Given the description of an element on the screen output the (x, y) to click on. 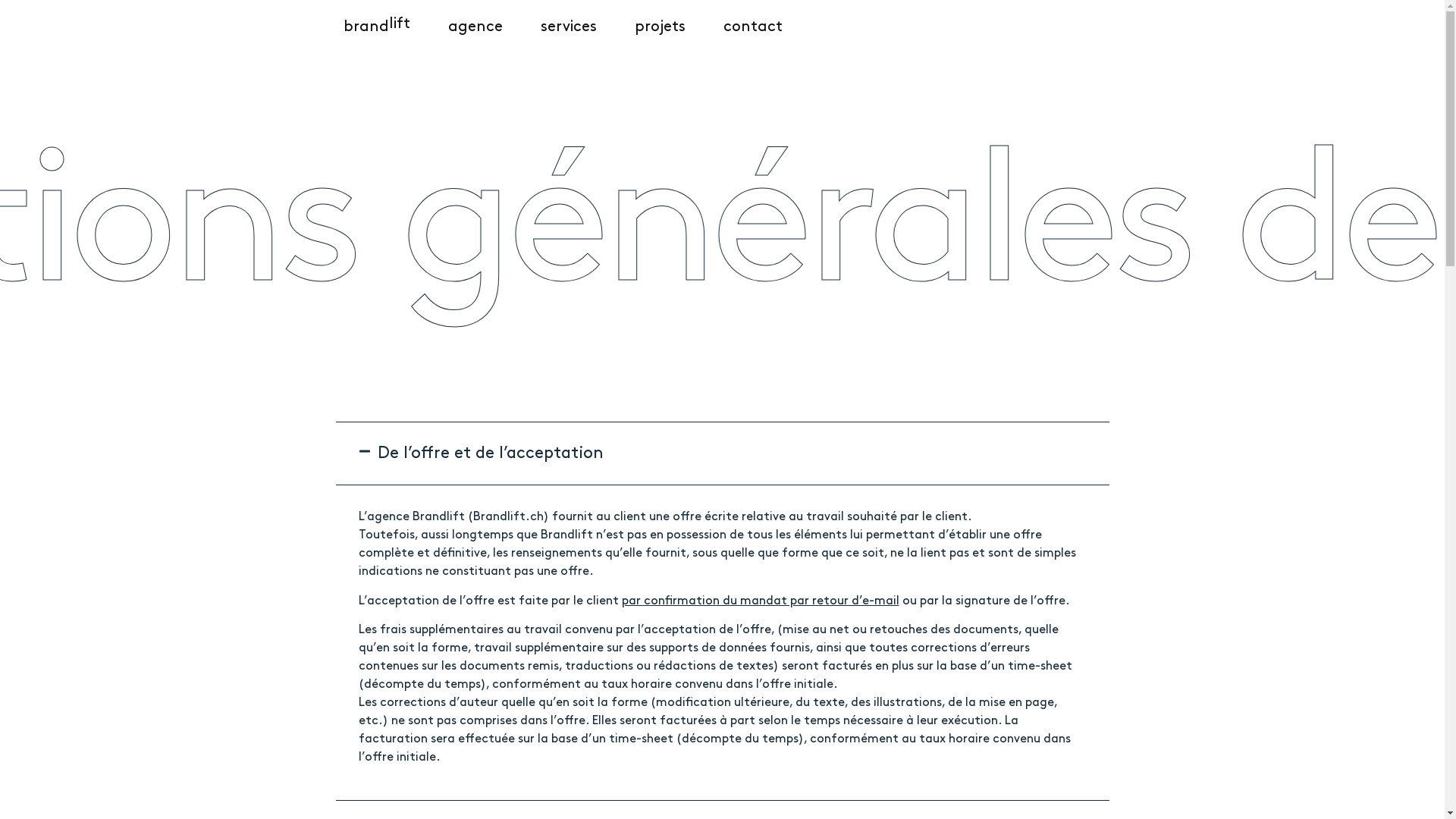
services Element type: text (567, 26)
agence Element type: text (474, 26)
projets Element type: text (658, 26)
brand
lift Element type: text (375, 26)
contact Element type: text (752, 26)
